Given the description of an element on the screen output the (x, y) to click on. 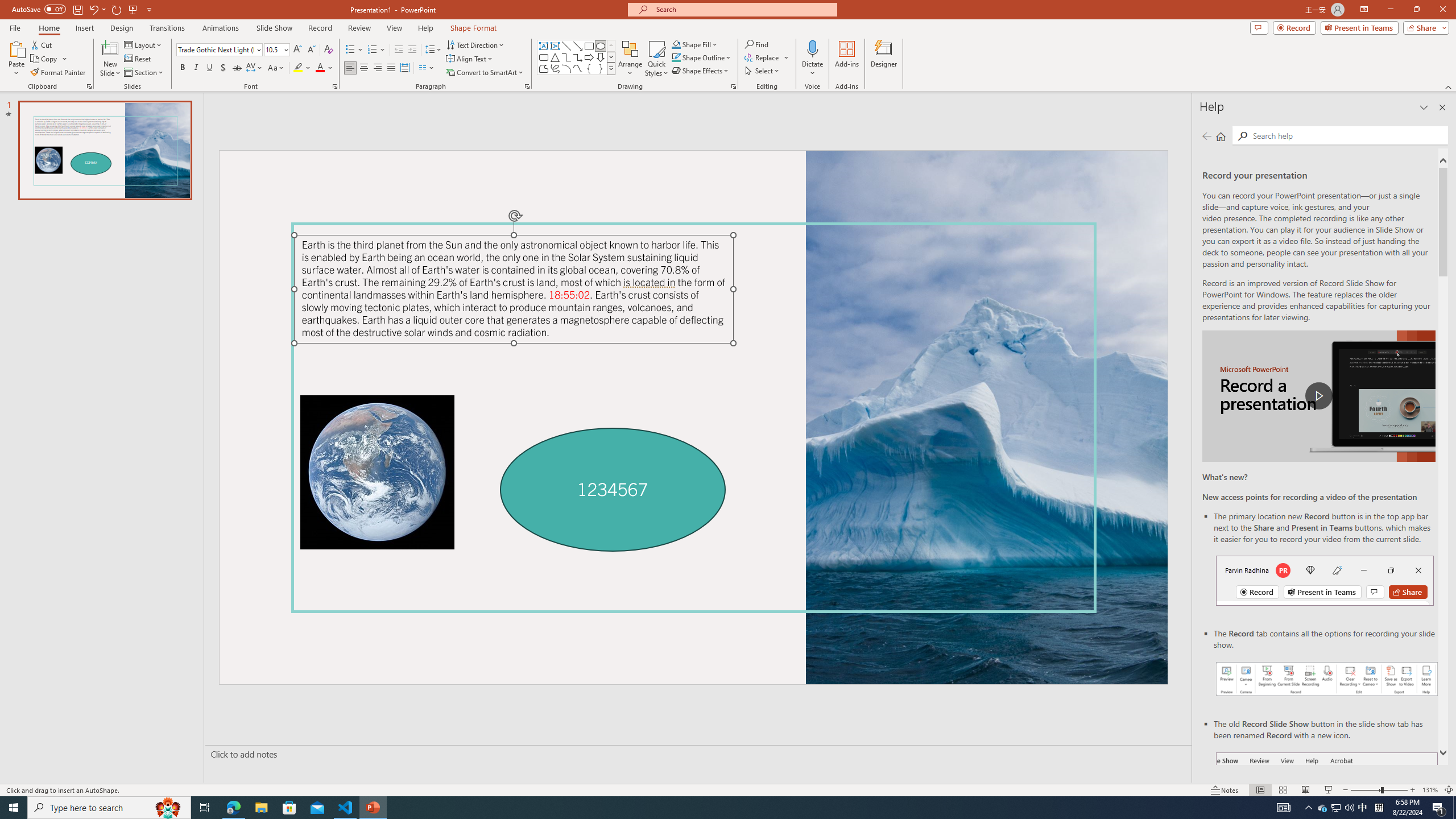
play Record a Presentation (1318, 395)
